Given the description of an element on the screen output the (x, y) to click on. 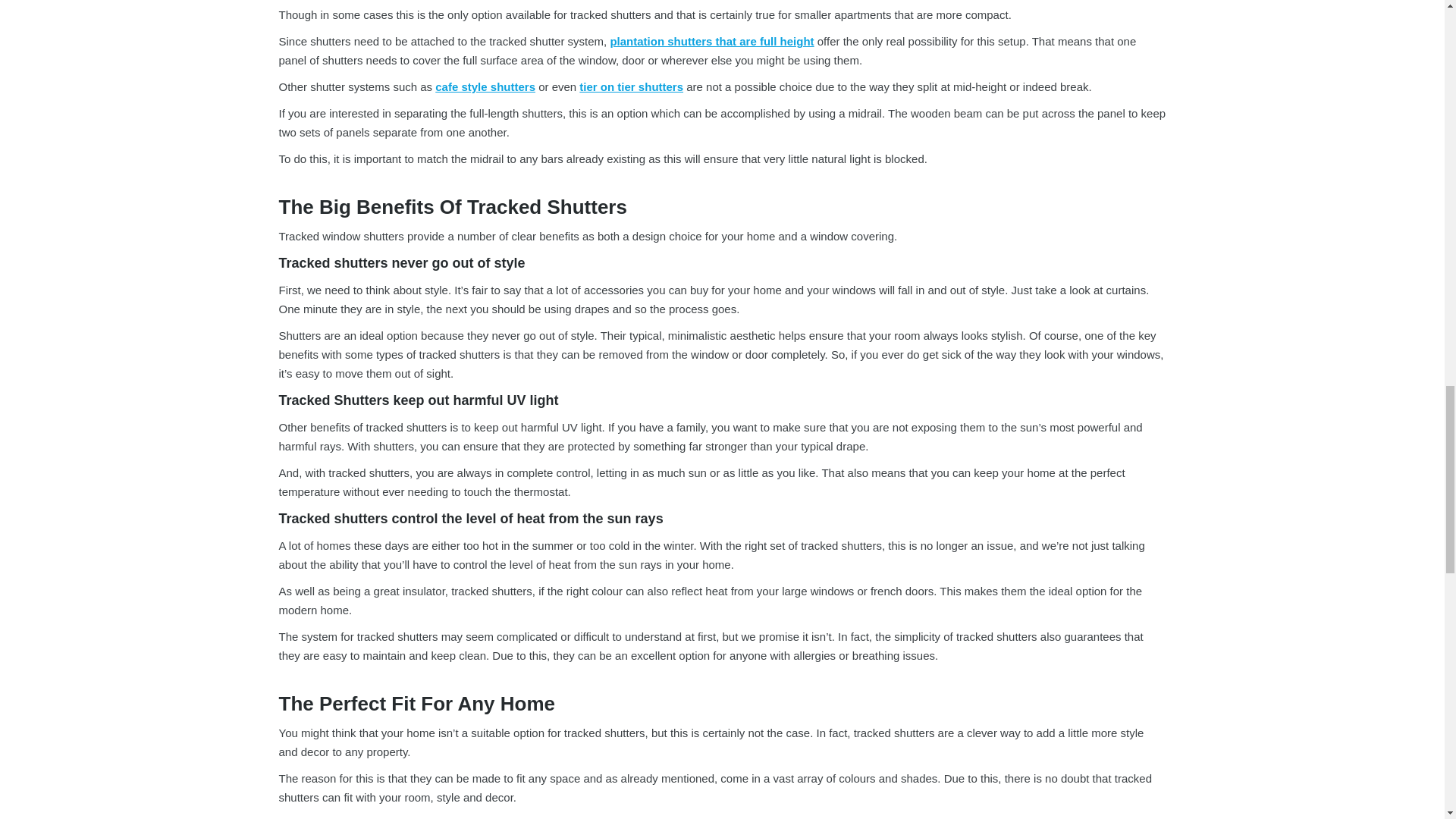
plantation shutters that are full height (711, 41)
cafe style shutters (485, 86)
tier on tier shutters (630, 86)
